Given the description of an element on the screen output the (x, y) to click on. 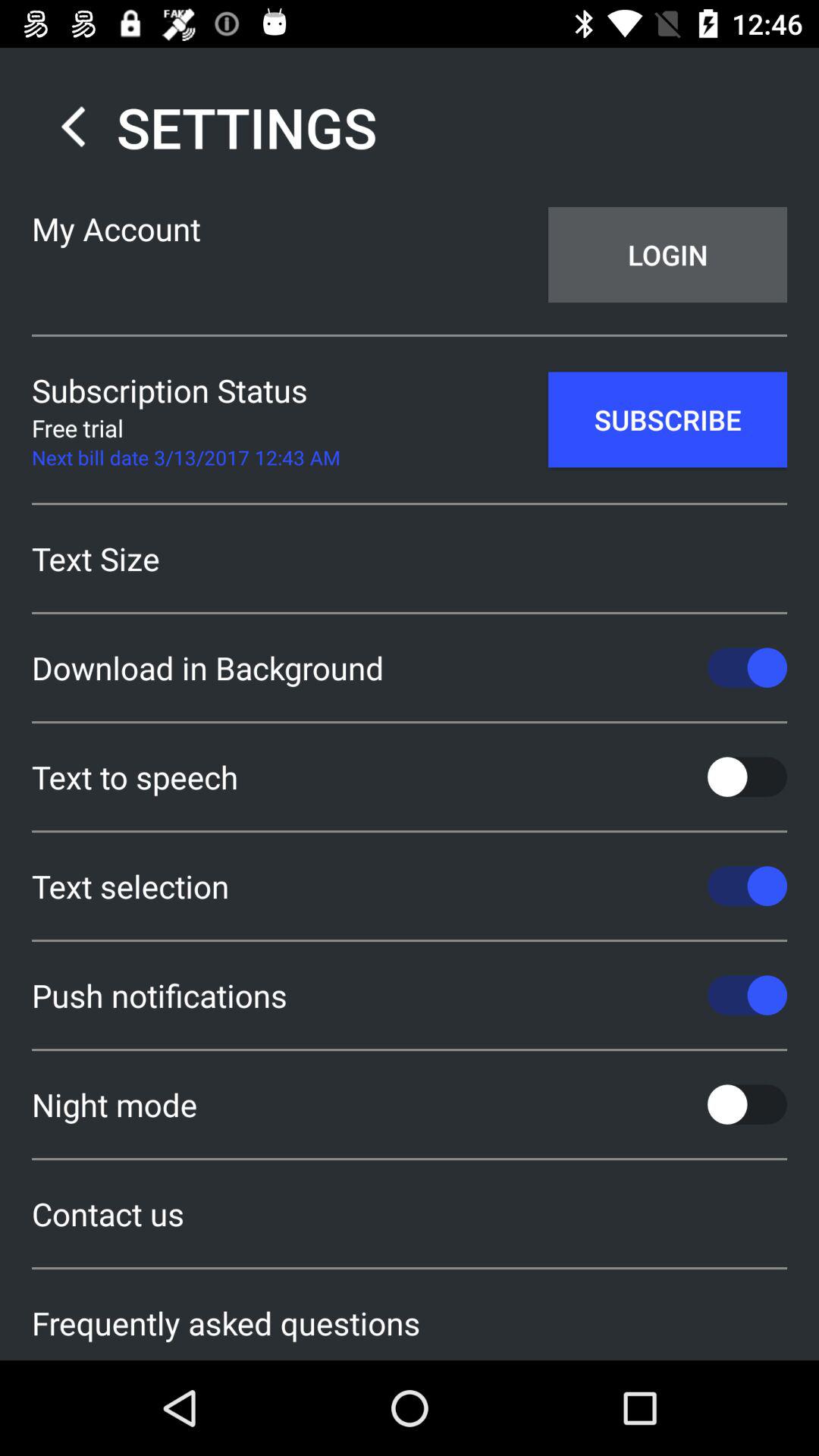
scroll until text selection icon (409, 885)
